Given the description of an element on the screen output the (x, y) to click on. 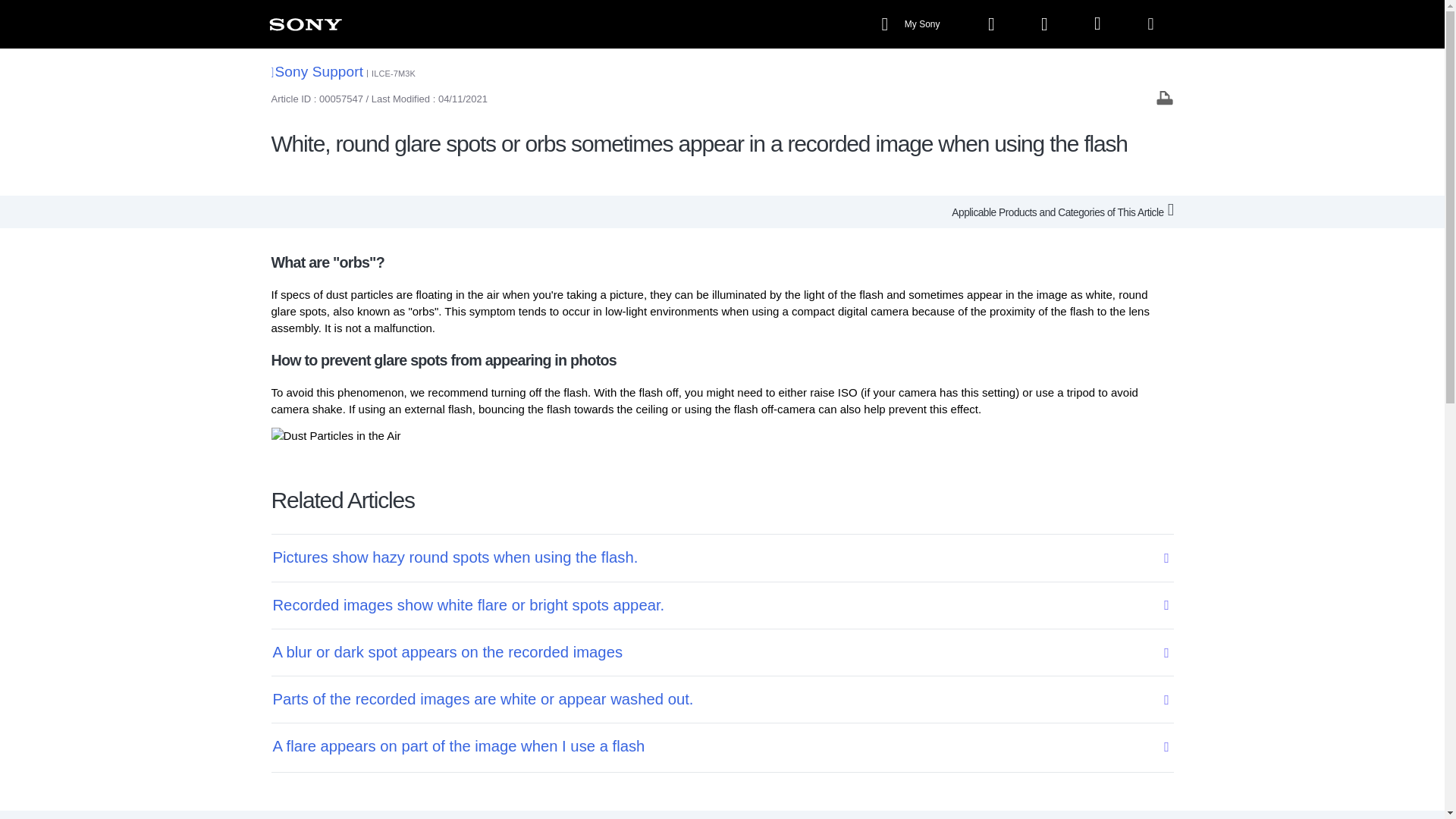
Print (1164, 97)
My Sony (912, 24)
